Given the description of an element on the screen output the (x, y) to click on. 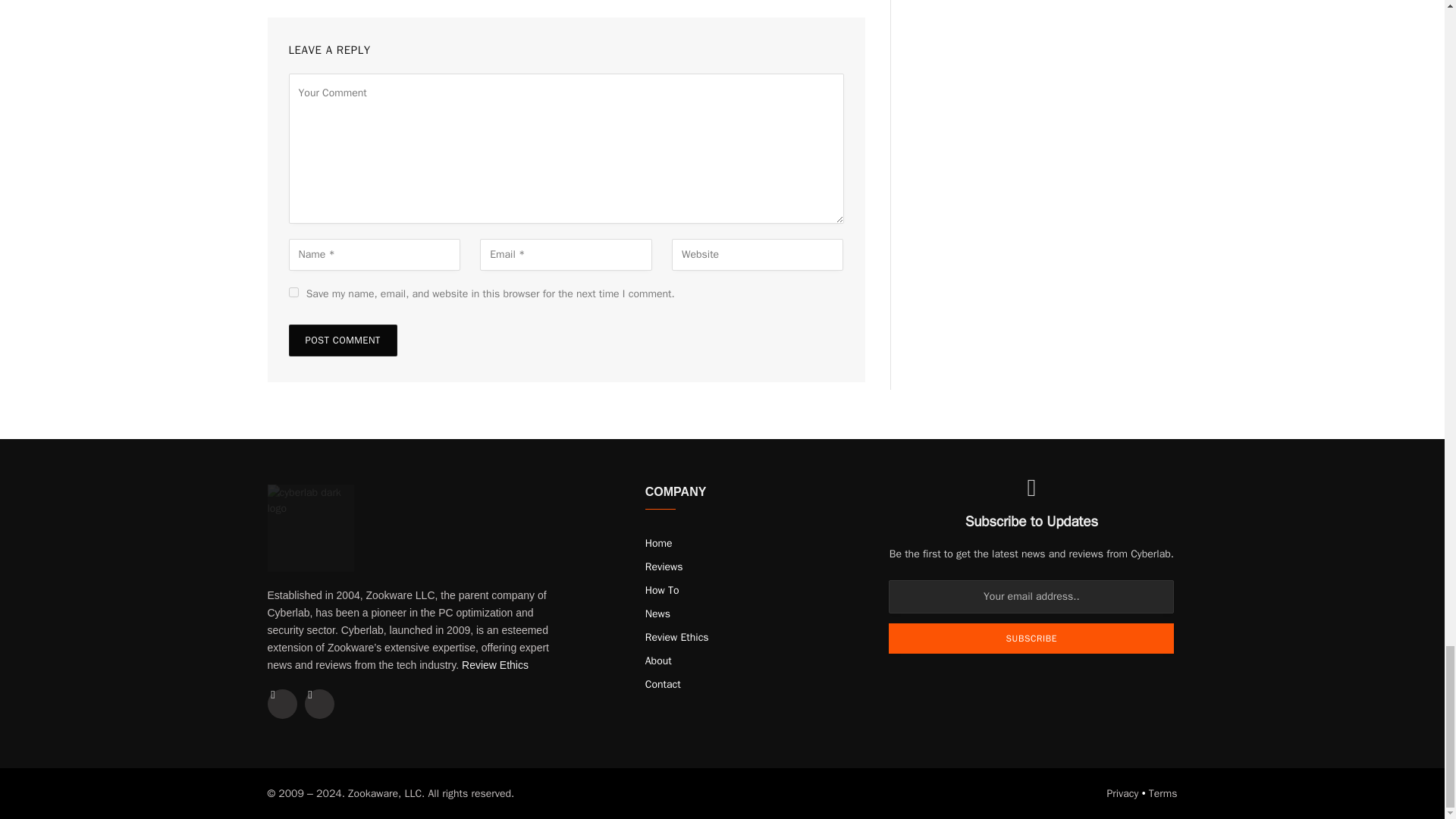
yes (293, 292)
Subscribe (1030, 638)
Post Comment (342, 340)
